Given the description of an element on the screen output the (x, y) to click on. 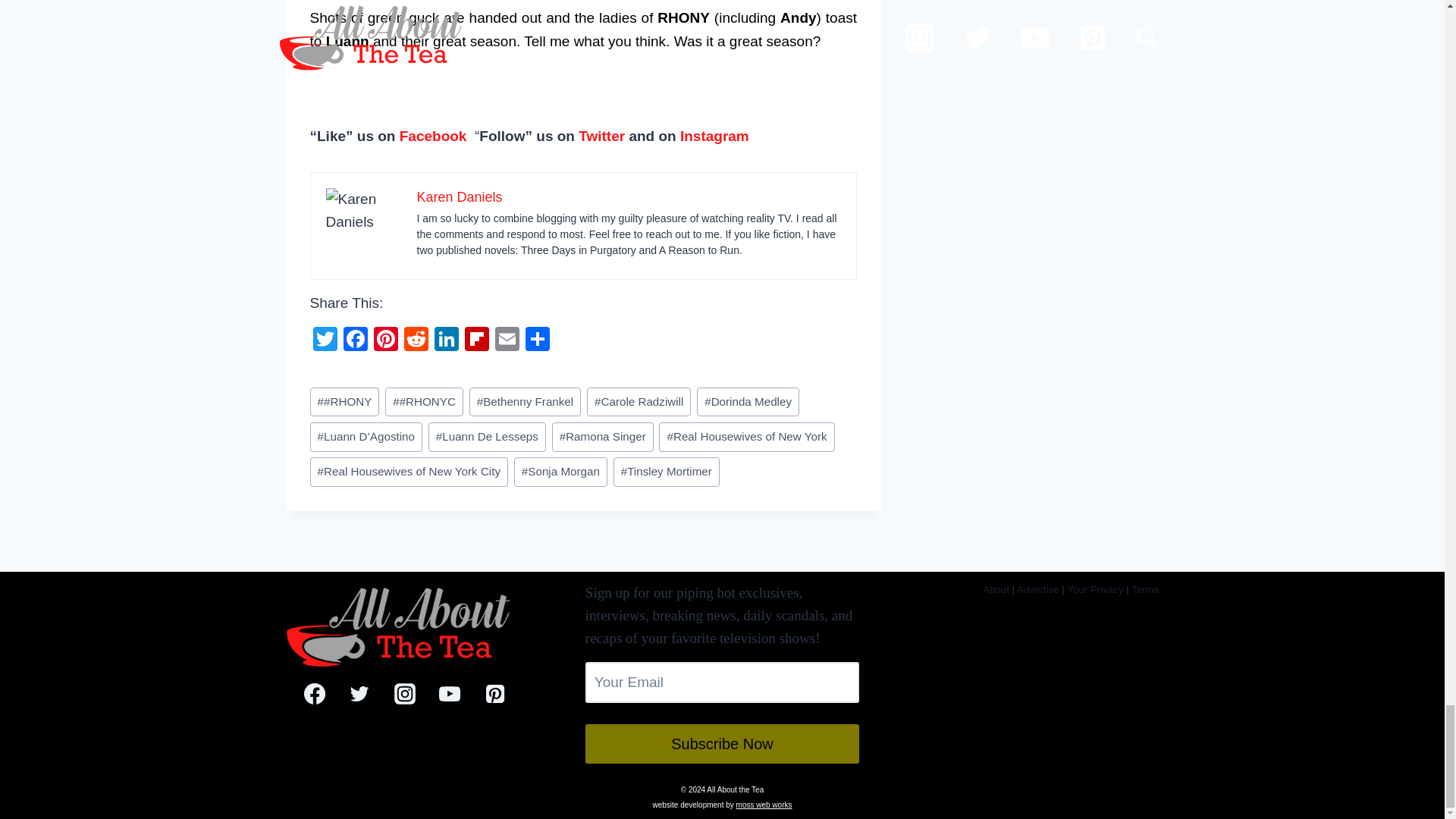
Twitter (601, 135)
Instagram (714, 135)
Karen Daniels (459, 196)
Facebook (432, 135)
